Given the description of an element on the screen output the (x, y) to click on. 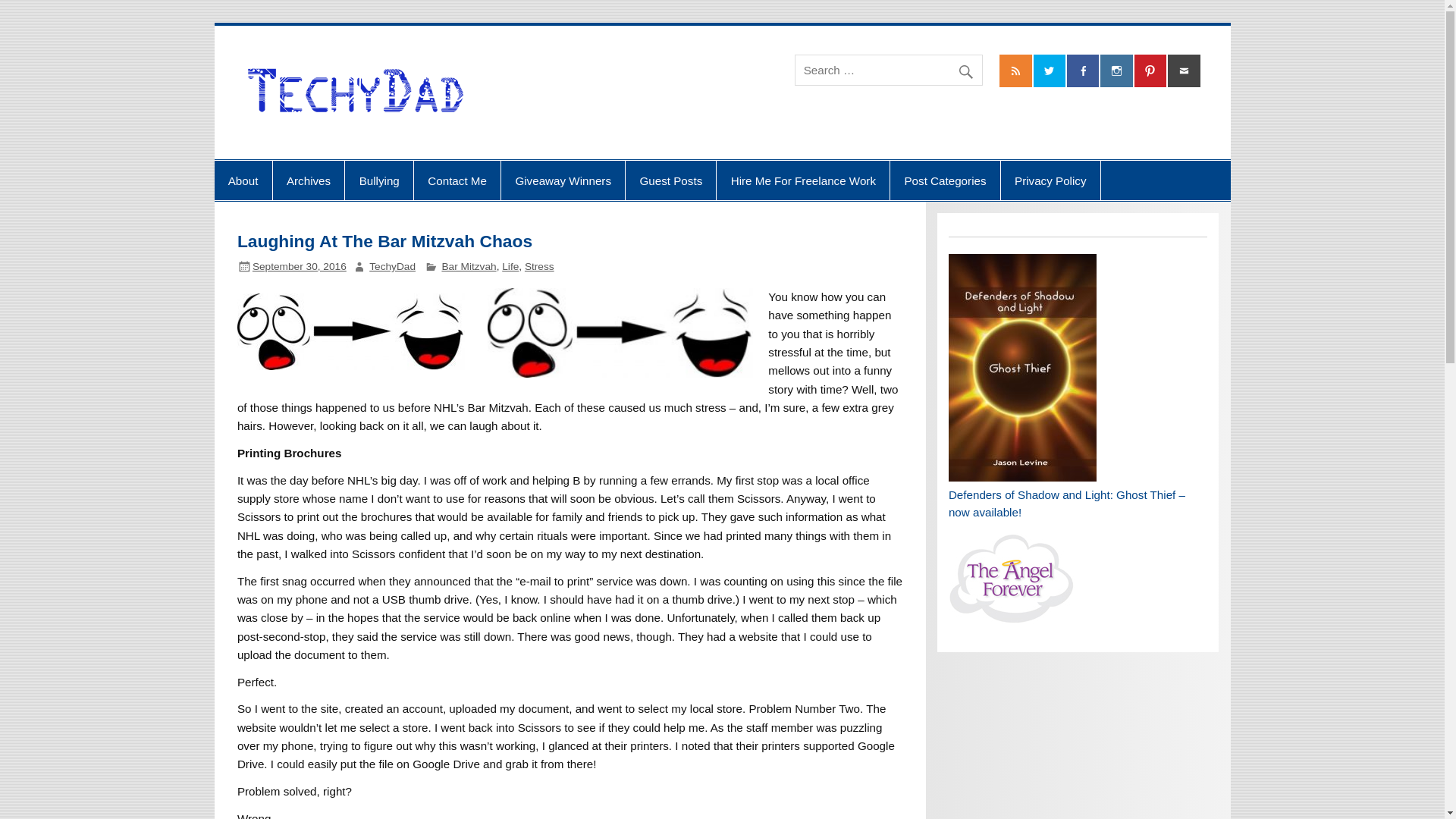
Hire Me For Freelance Work (802, 179)
Privacy Policy (1050, 179)
About (242, 179)
Stress (539, 266)
Bar Mitzvah (468, 266)
Giveaway Winners (562, 179)
View all posts by TechyDad (391, 266)
Bullying (379, 179)
Contact Me (456, 179)
stressed-to-laughter (619, 332)
